Given the description of an element on the screen output the (x, y) to click on. 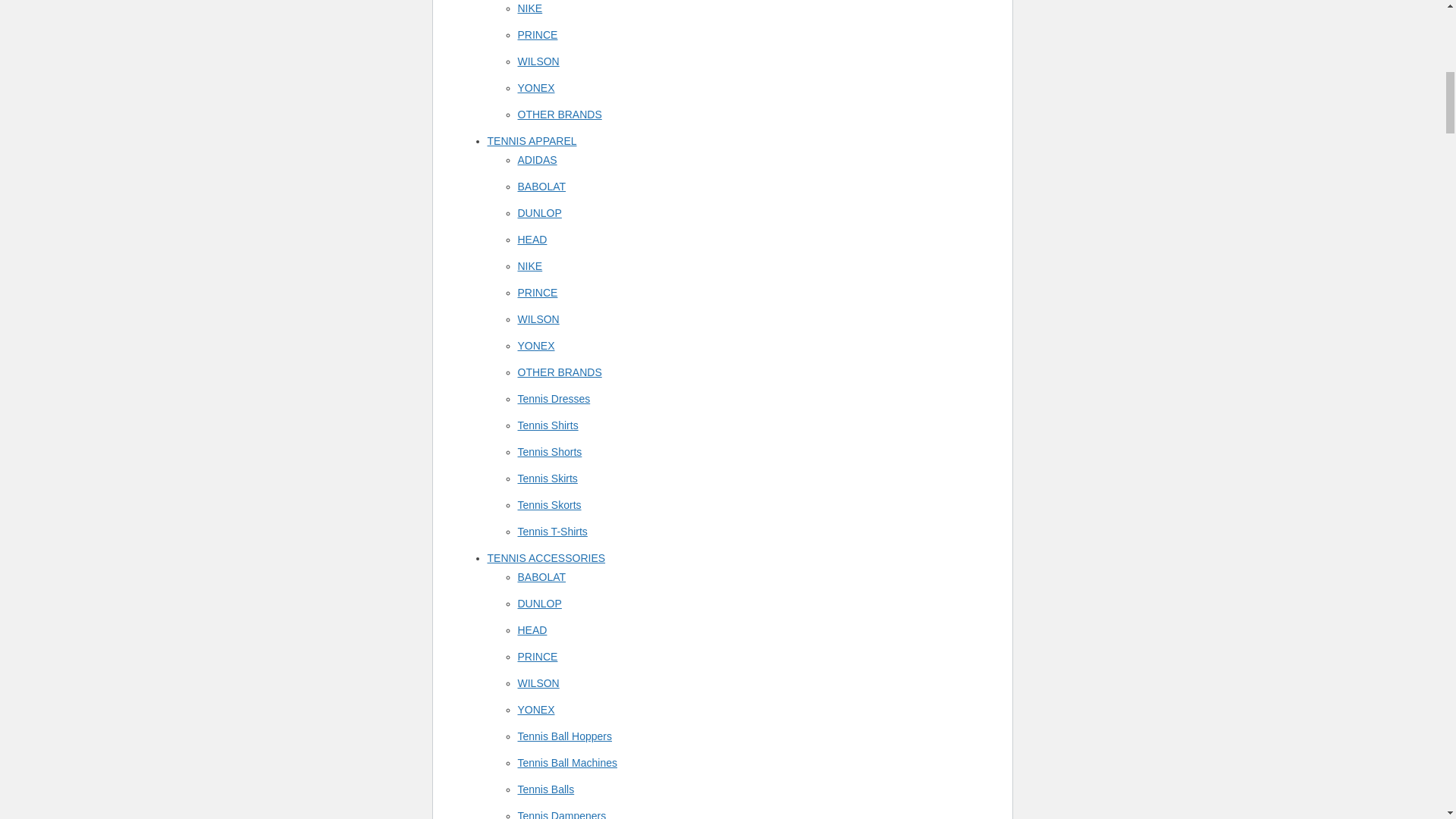
TENNIS APPAREL (531, 141)
YONEX (535, 87)
OTHER BRANDS (558, 114)
NIKE (528, 8)
WILSON (537, 61)
ADIDAS (536, 159)
PRINCE (536, 34)
